Given the description of an element on the screen output the (x, y) to click on. 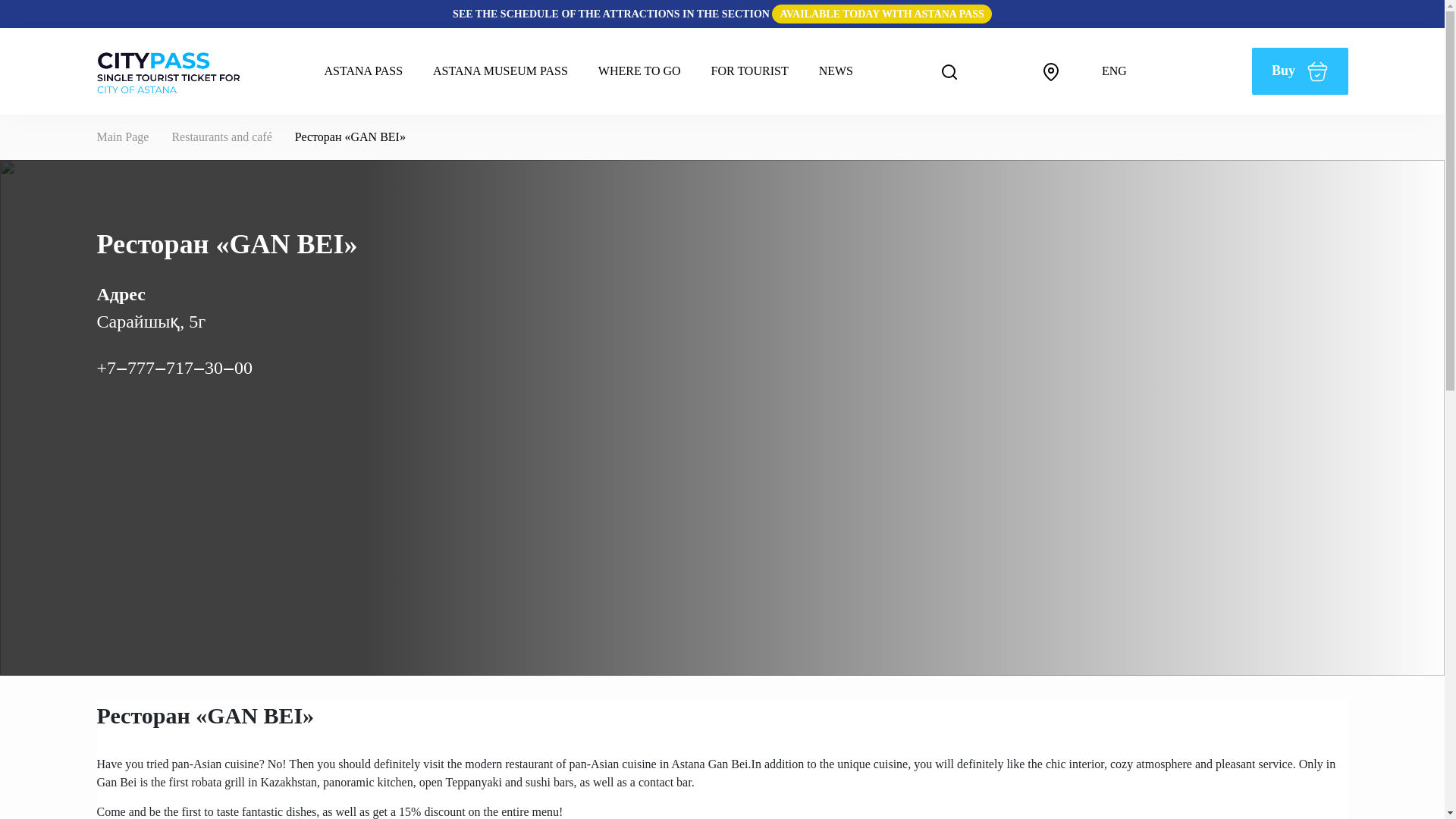
Buy (1300, 71)
FOR TOURIST (749, 70)
AVAILABLE TODAY WITH ASTANA PASS (881, 13)
ENG (1123, 70)
ASTANA PASS (363, 70)
WHERE TO GO (639, 70)
ASTANA MUSEUM PASS (500, 70)
ENG (1123, 70)
